Given the description of an element on the screen output the (x, y) to click on. 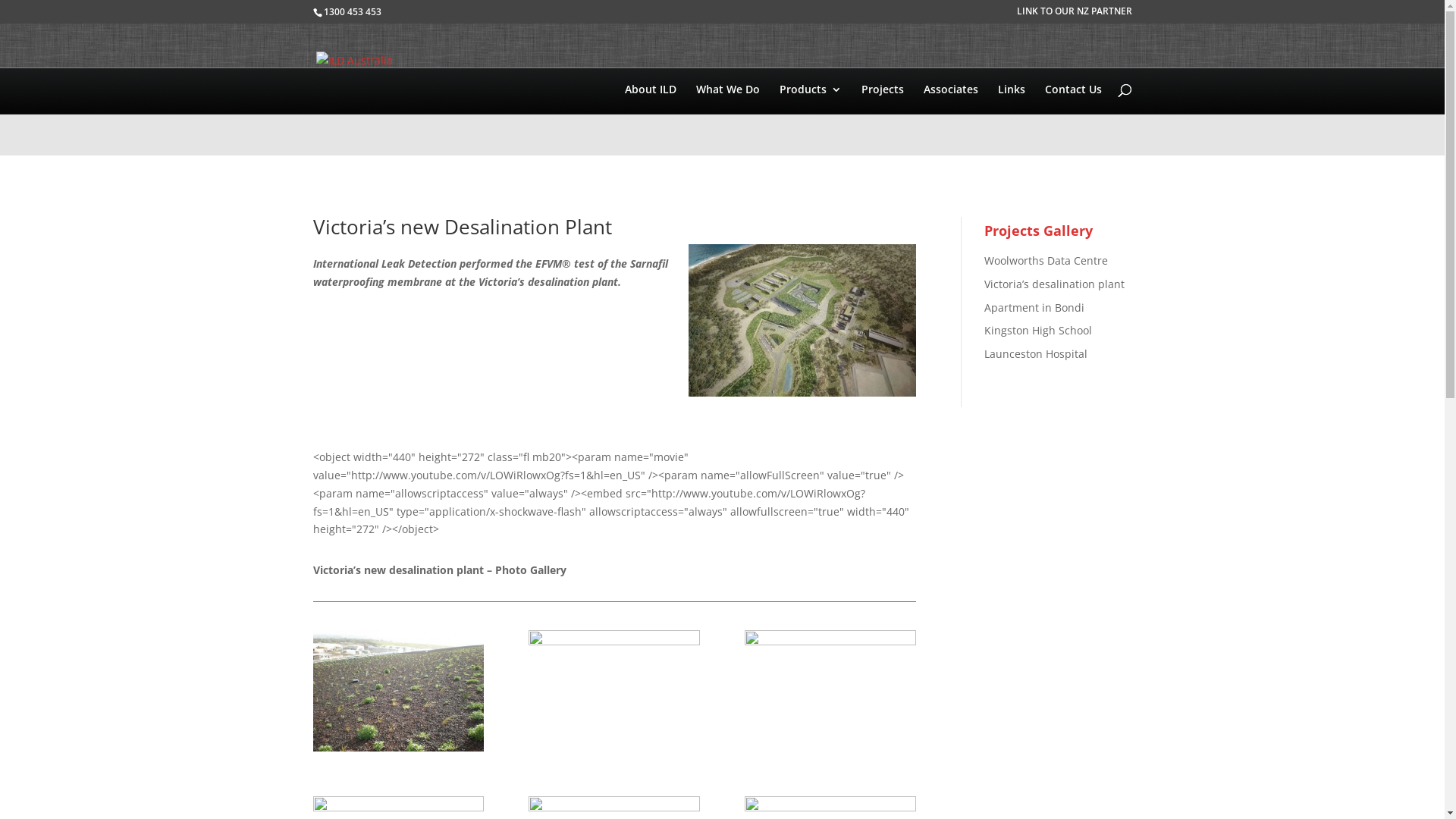
Apartment in Bondi Element type: text (1034, 307)
desal-16 Element type: hover (397, 750)
Launceston Hospital Element type: text (1035, 353)
desal-01 Element type: hover (613, 750)
Woolworths Data Centre Element type: text (1045, 260)
Contact Us Element type: text (1072, 119)
What We Do Element type: text (727, 119)
About ILD Element type: text (650, 119)
Products Element type: text (810, 119)
Associates Element type: text (950, 119)
LINK TO OUR NZ PARTNER Element type: text (1073, 14)
Links Element type: text (1011, 119)
desal-02 Element type: hover (829, 750)
Projects Element type: text (882, 119)
Kingston High School Element type: text (1038, 330)
